Given the description of an element on the screen output the (x, y) to click on. 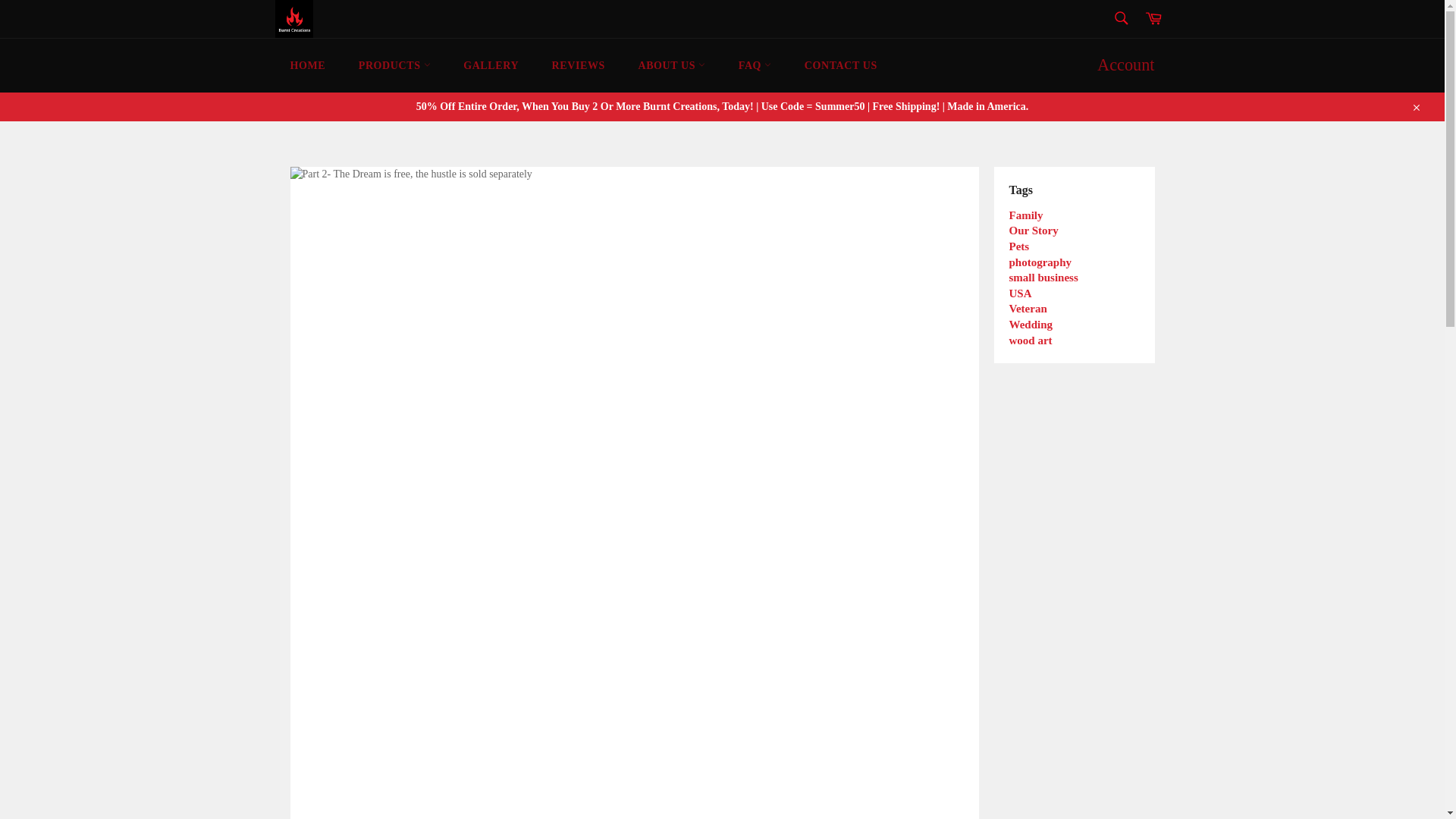
Show articles tagged small business (1043, 277)
HOME (307, 65)
GALLERY (491, 65)
Cart (1153, 18)
Show articles tagged Pets (1019, 246)
Show articles tagged USA (1019, 293)
Show articles tagged Wedding (1030, 324)
Show articles tagged wood art (1030, 340)
Show articles tagged Family (1025, 215)
Search (1120, 17)
Show articles tagged Our Story (1033, 230)
REVIEWS (578, 65)
PRODUCTS (394, 65)
Show articles tagged Veteran (1027, 308)
Show articles tagged photography (1040, 262)
